Given the description of an element on the screen output the (x, y) to click on. 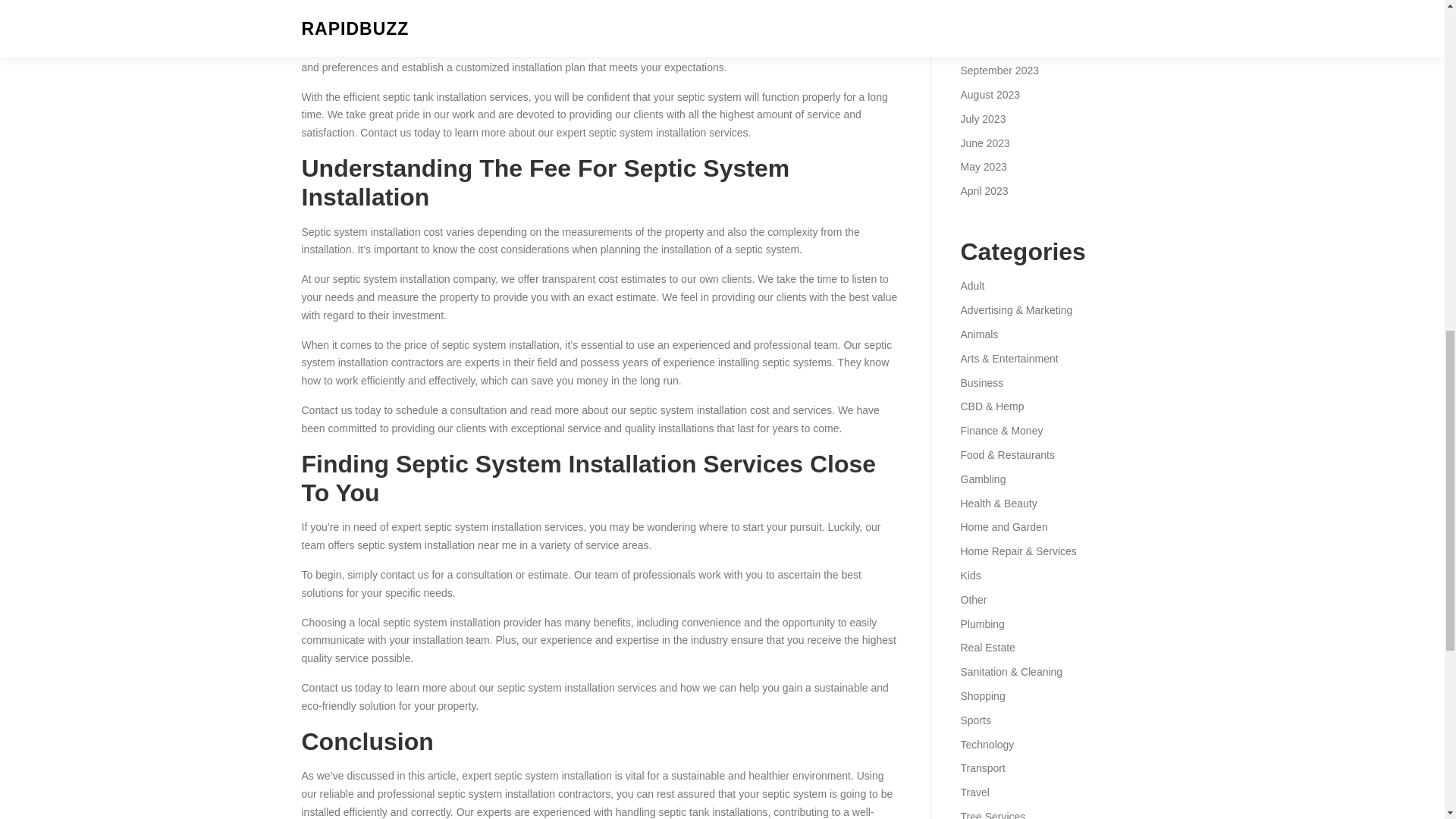
October 2023 (992, 46)
Animals (978, 334)
June 2023 (984, 143)
Adult (971, 285)
May 2023 (982, 166)
November 2023 (997, 22)
Business (981, 382)
July 2023 (982, 119)
April 2023 (983, 191)
August 2023 (989, 94)
